Given the description of an element on the screen output the (x, y) to click on. 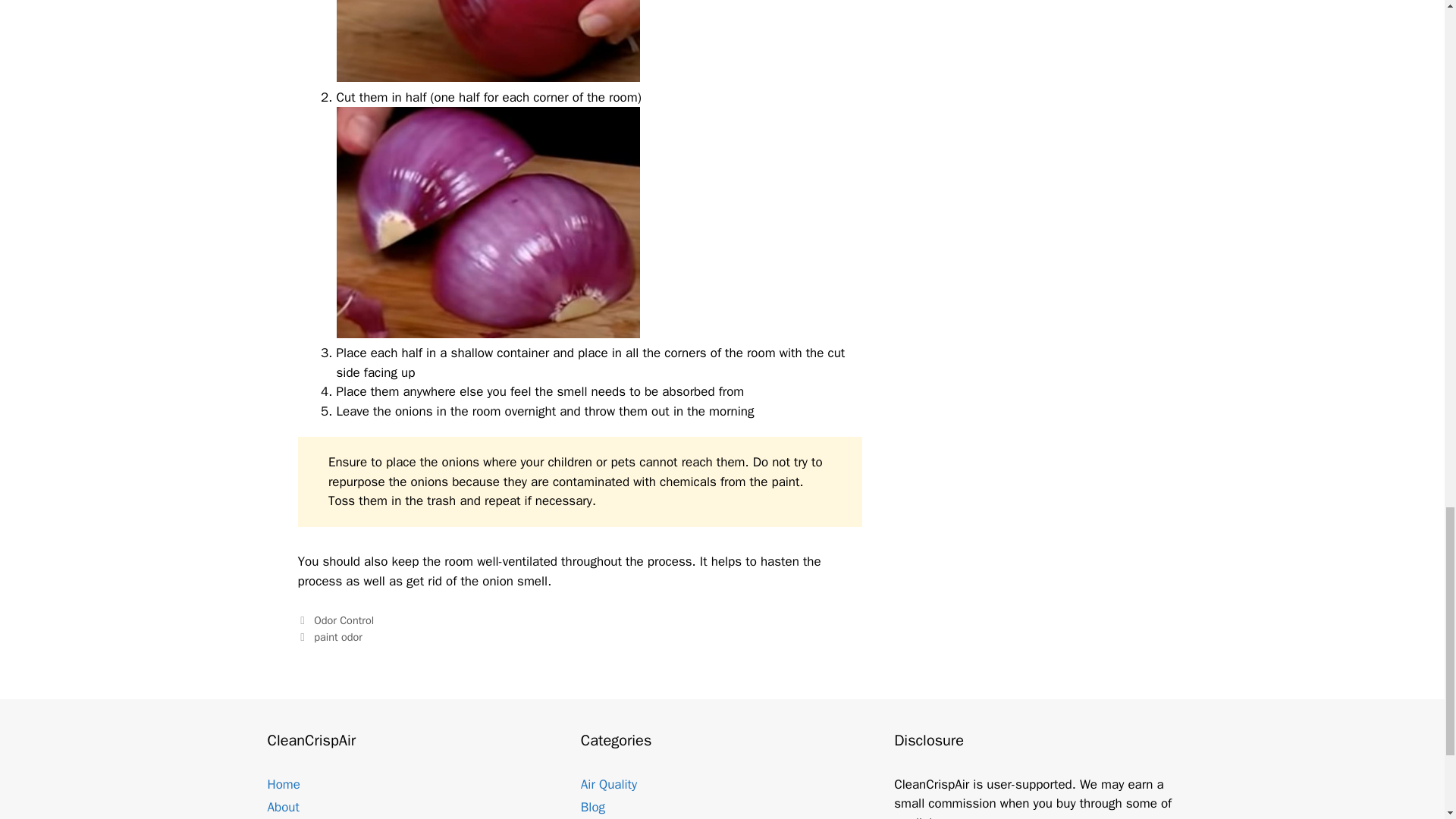
Blog (592, 806)
paint odor (338, 636)
Odor Control (344, 620)
About (282, 806)
Home (282, 784)
Air Quality (608, 784)
